Given the description of an element on the screen output the (x, y) to click on. 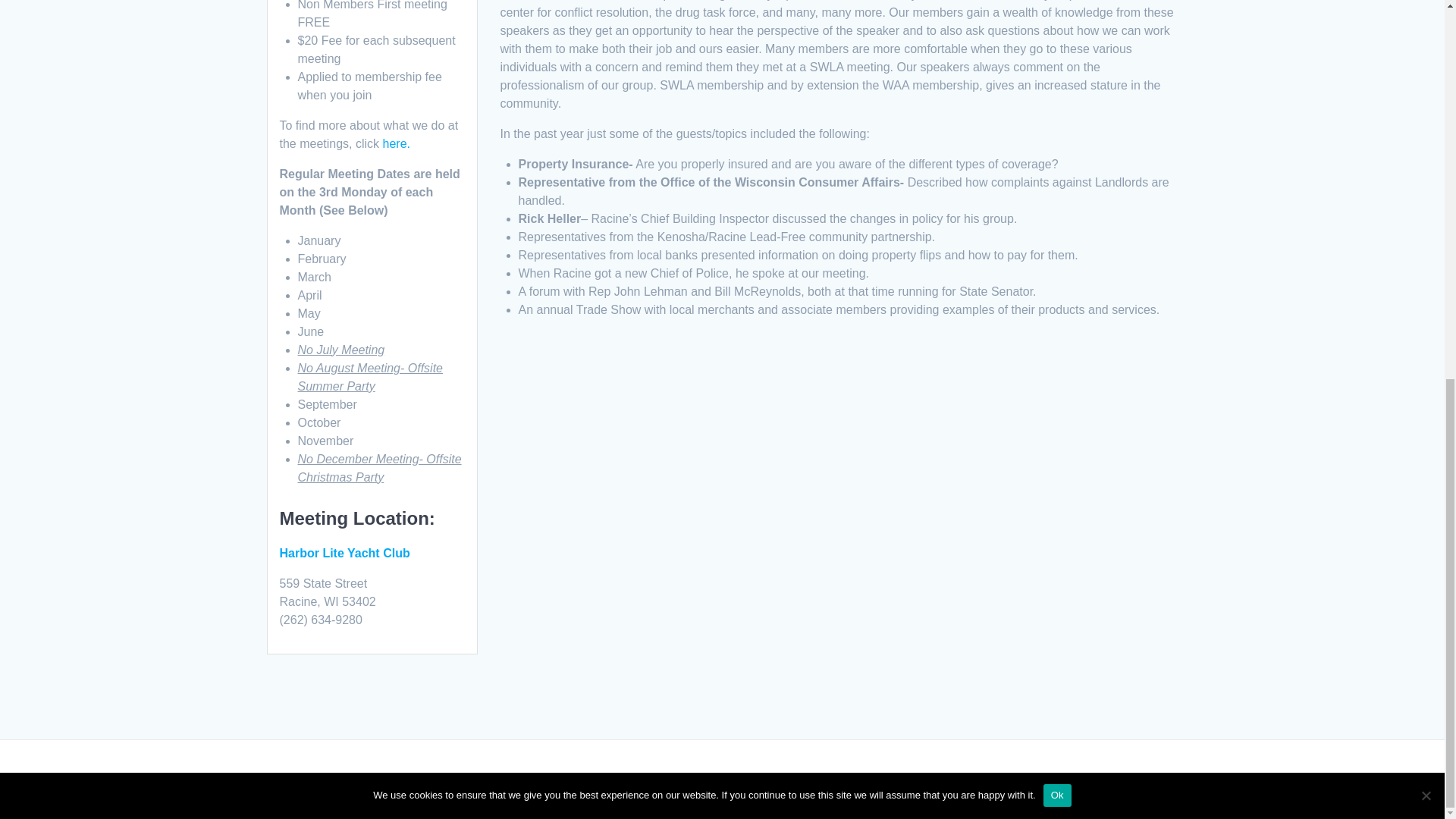
Mesmerize Theme (885, 779)
here. (396, 143)
Harbor Lite Yacht Club (344, 553)
Ok (1057, 92)
No (1425, 92)
